Given the description of an element on the screen output the (x, y) to click on. 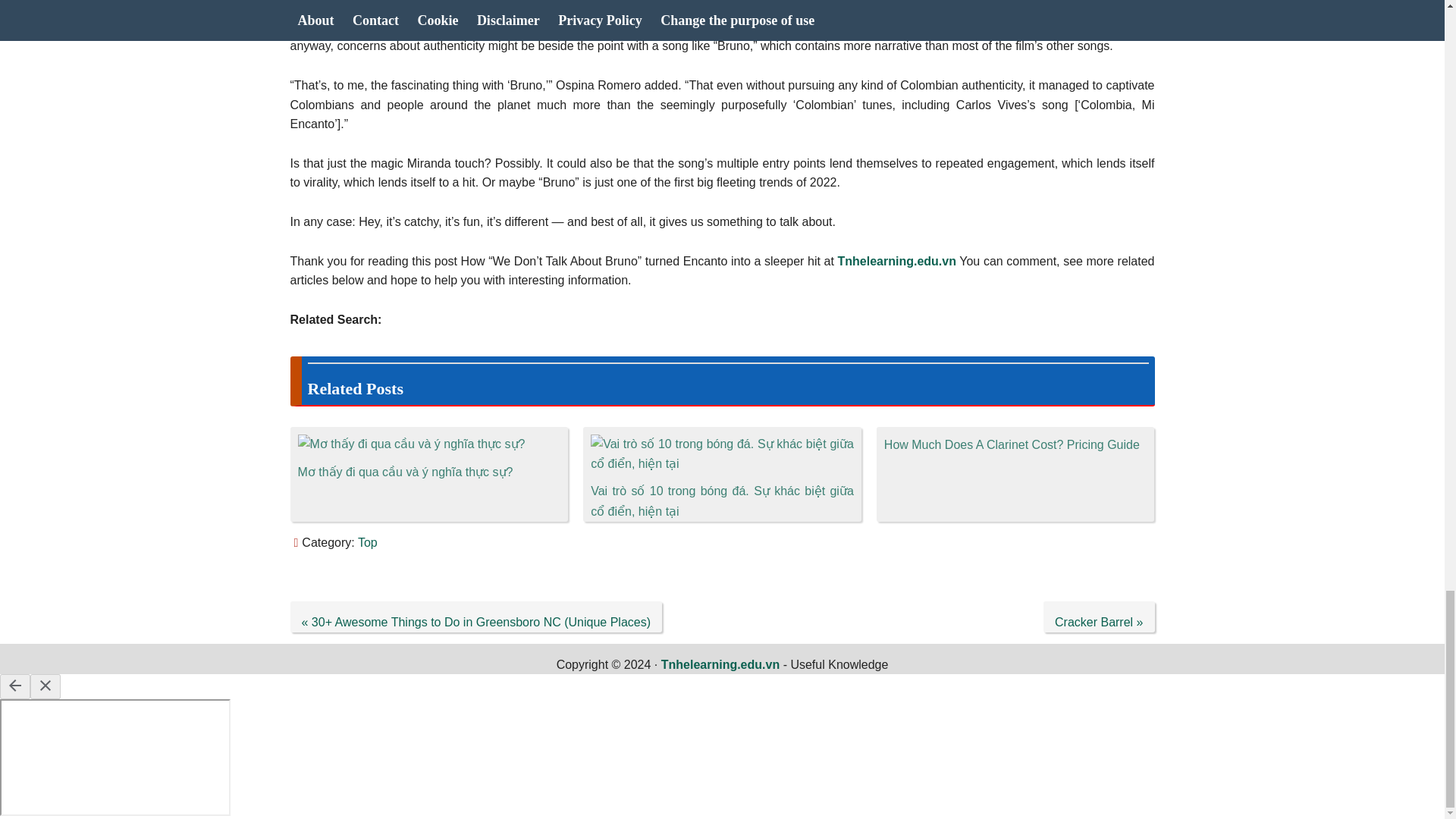
Tnhelearning.edu.vn (896, 260)
How Much Does A Clarinet Cost? Pricing Guide (1011, 444)
Top (367, 542)
Tnhelearning.edu.vn (719, 664)
